Given the description of an element on the screen output the (x, y) to click on. 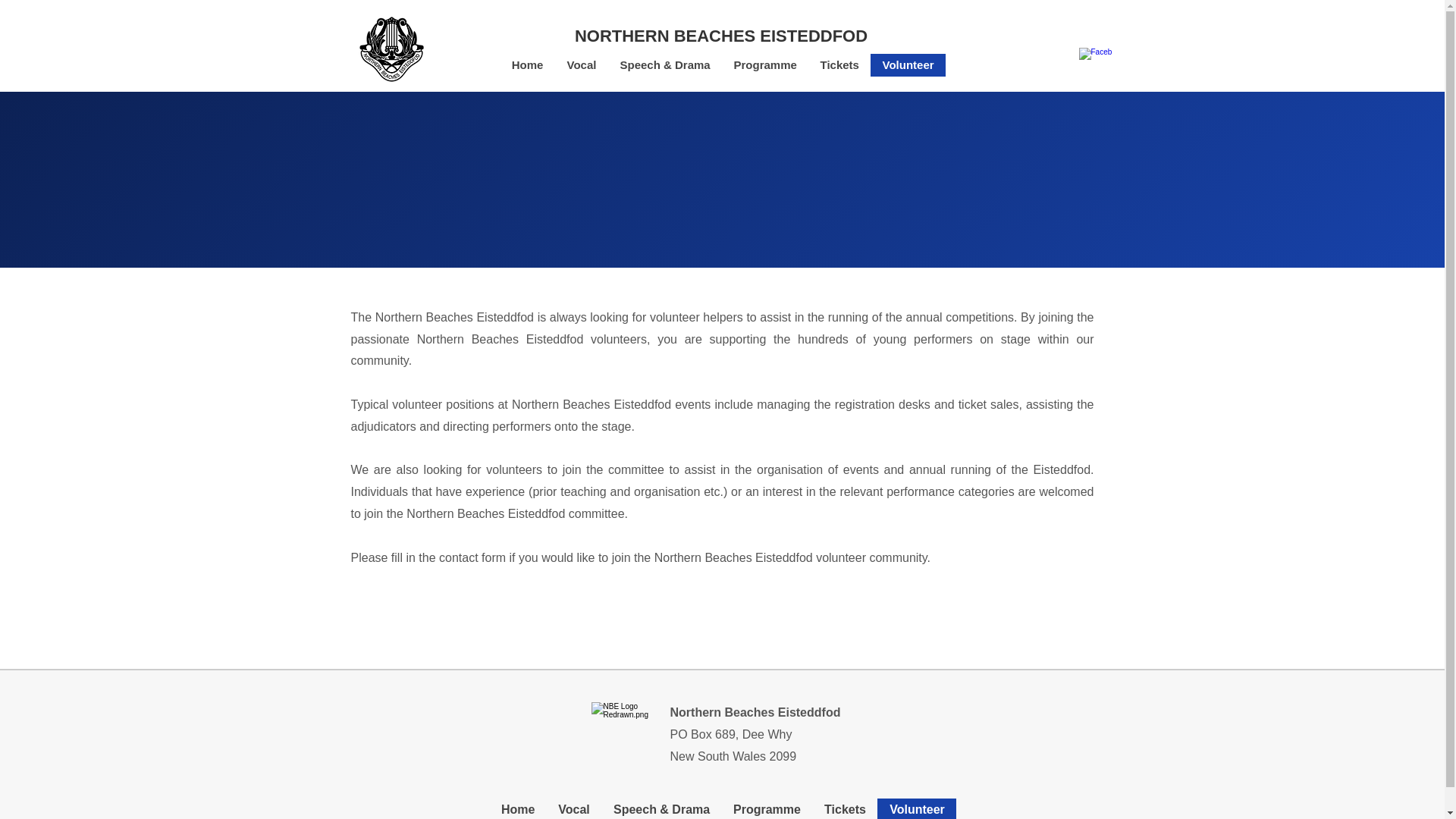
Vocal (581, 65)
Programme (765, 65)
Tickets (844, 808)
Volunteer (916, 808)
Programme (766, 808)
Home (517, 808)
NORTHERN BEACHES EISTEDDFOD (721, 35)
Volunteer (907, 65)
Home (526, 65)
Vocal (573, 808)
